Given the description of an element on the screen output the (x, y) to click on. 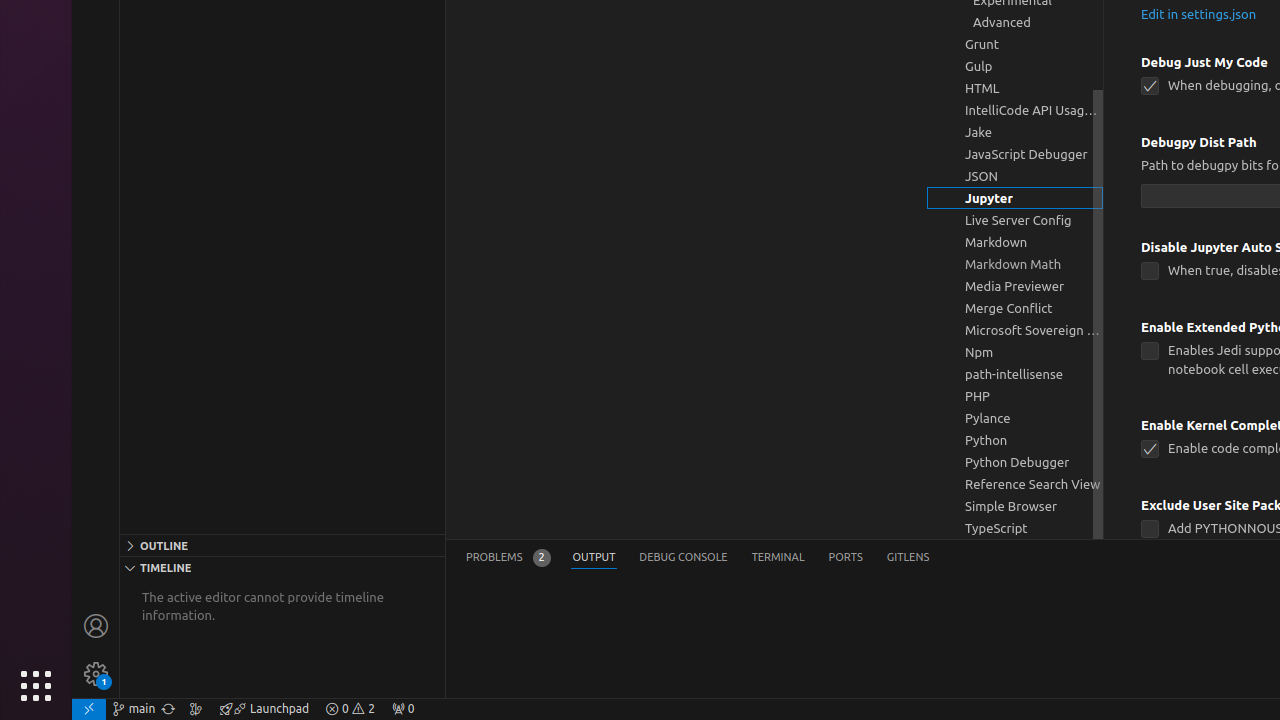
Ports Element type: page-tab (845, 557)
Microsoft Sovereign Cloud, group Element type: tree-item (1015, 330)
JavaScript Debugger, group Element type: tree-item (1015, 154)
Python Debugger, group Element type: tree-item (1015, 462)
